Given the description of an element on the screen output the (x, y) to click on. 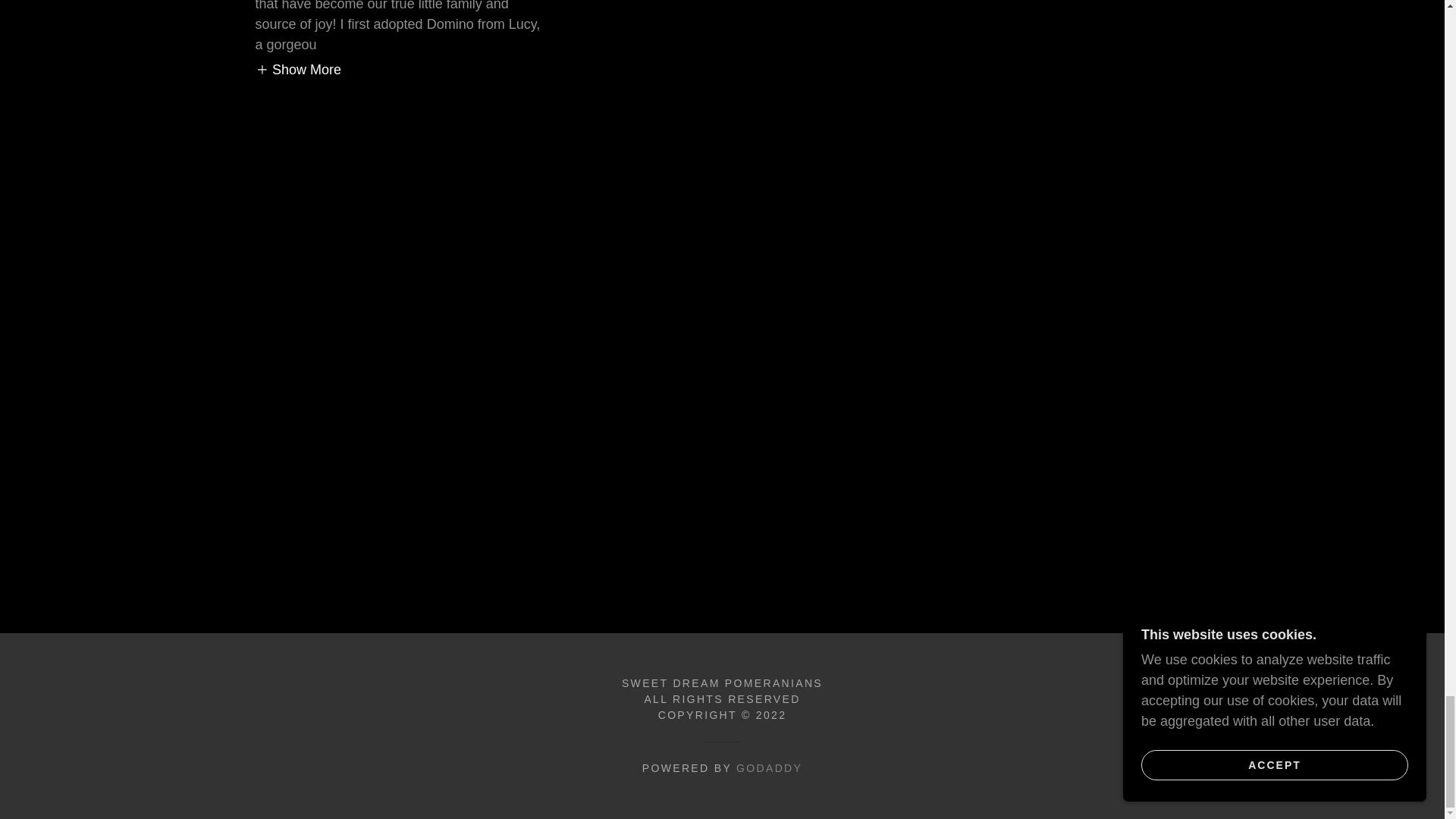
GODADDY (769, 767)
